Given the description of an element on the screen output the (x, y) to click on. 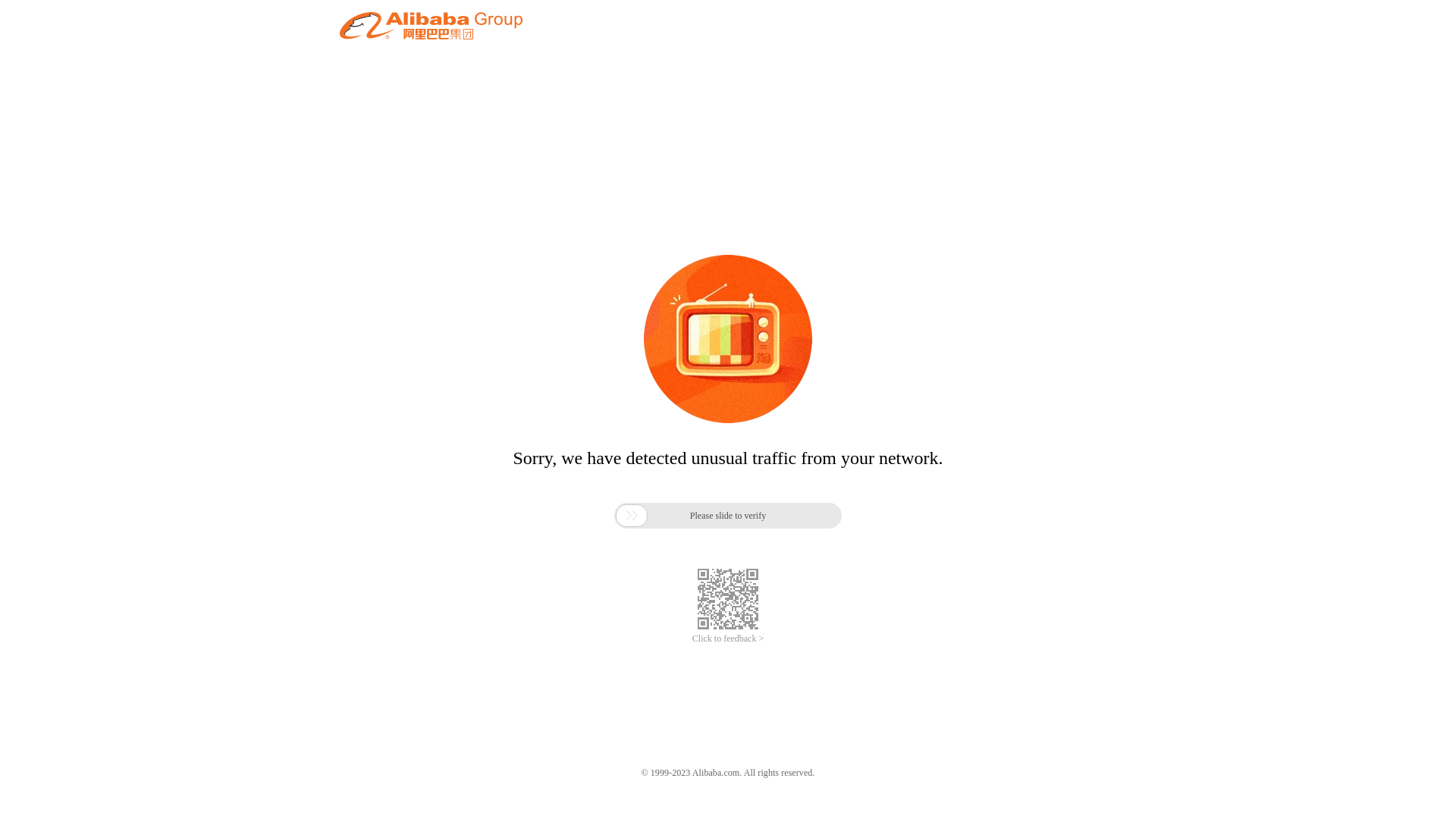
Click to feedback > Element type: text (727, 638)
